Given the description of an element on the screen output the (x, y) to click on. 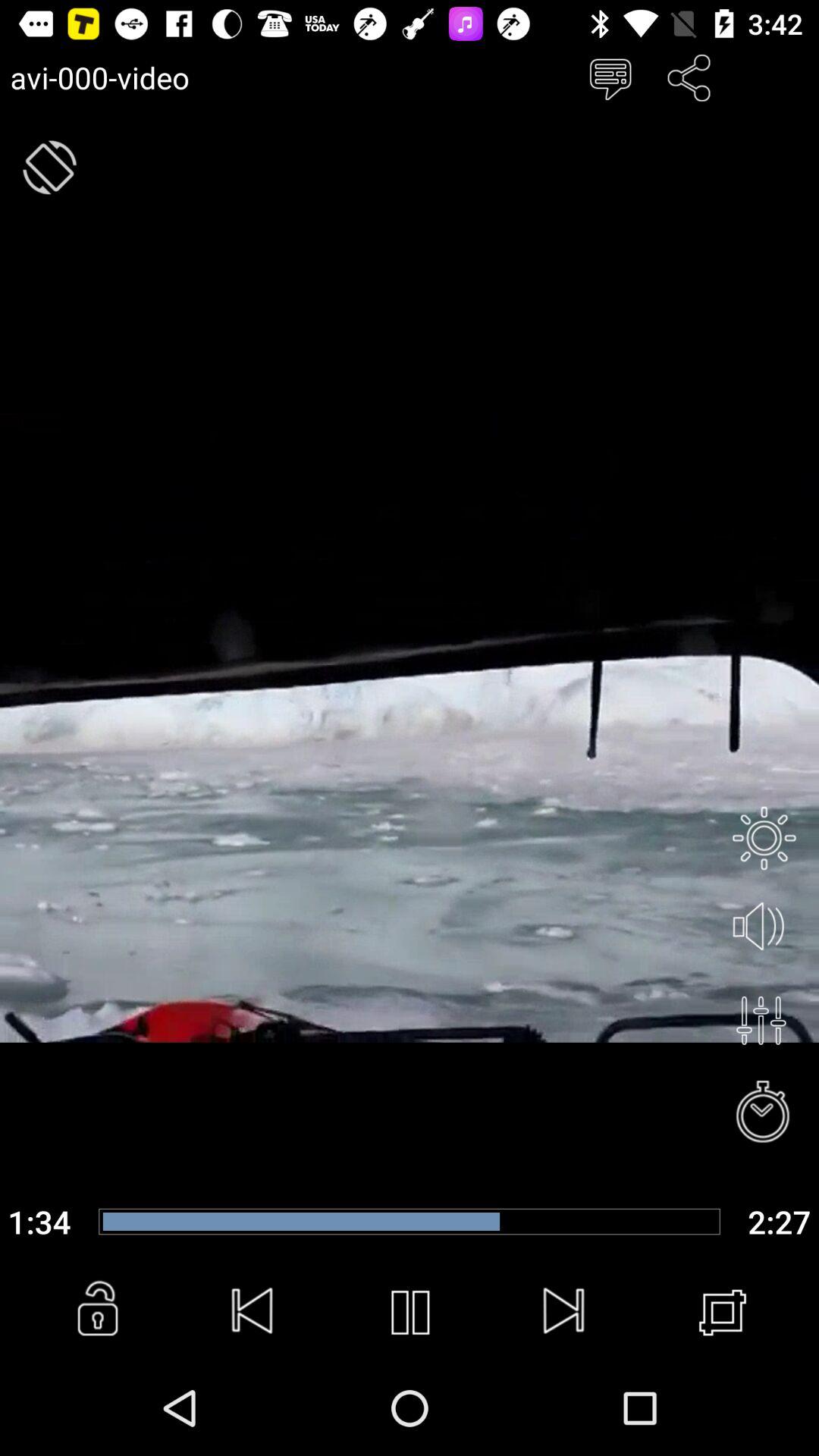
go to the previous video (253, 1312)
